Given the description of an element on the screen output the (x, y) to click on. 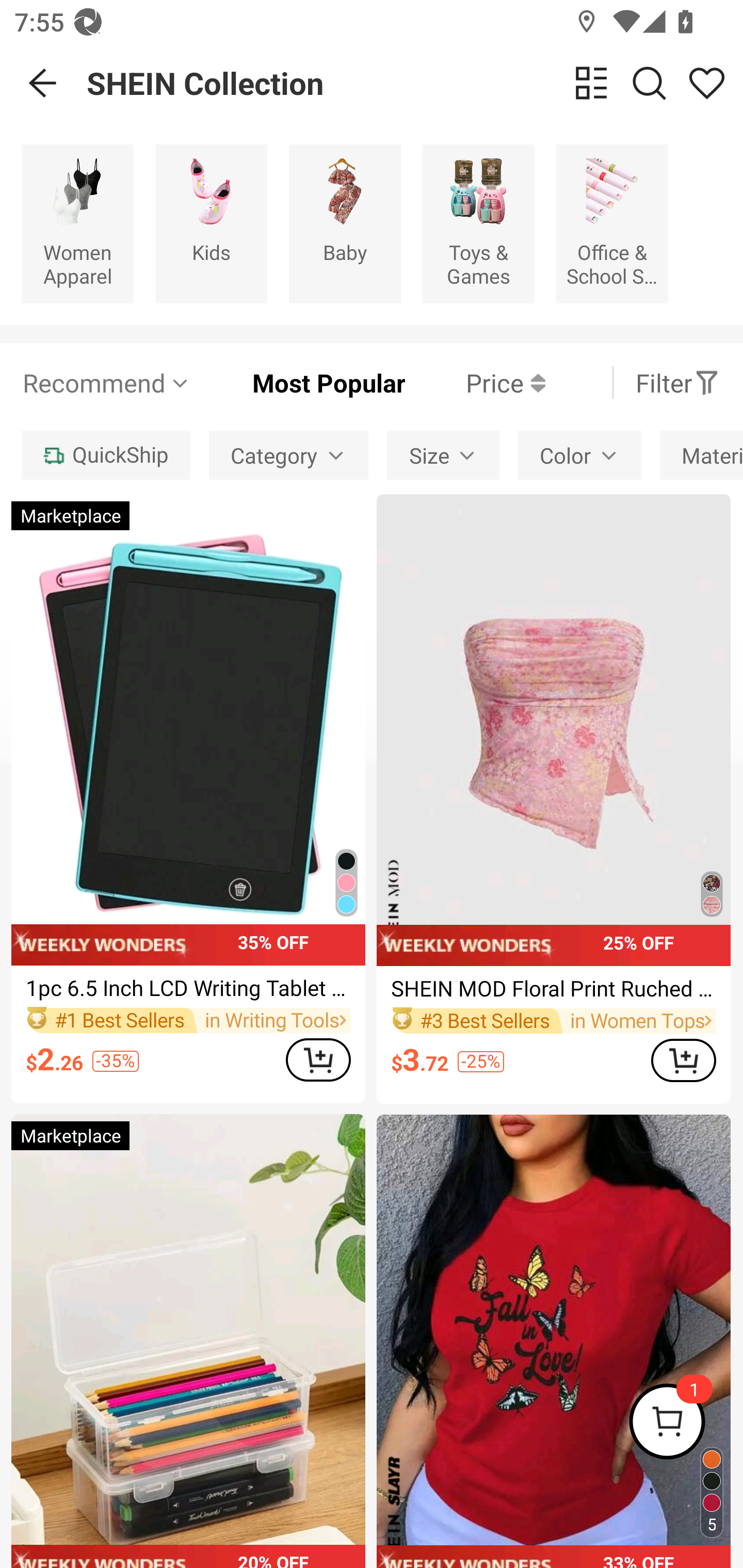
SHEIN Collection change view Search Share (414, 82)
change view (591, 82)
Search (648, 82)
Share (706, 82)
Women Apparel (77, 223)
Kids (211, 223)
Baby (345, 223)
Toys & Games (478, 223)
Office & School Supplies (611, 223)
Recommend (106, 382)
Most Popular (297, 382)
Price (474, 382)
Filter (677, 382)
QuickShip (105, 455)
Category (288, 455)
Size (443, 455)
Color (579, 455)
Material (701, 455)
#1 Best Sellers in Writing Tools (188, 1019)
#3 Best Sellers in Women Tops (553, 1020)
ADD TO CART (318, 1059)
ADD TO CART (683, 1059)
